Given the description of an element on the screen output the (x, y) to click on. 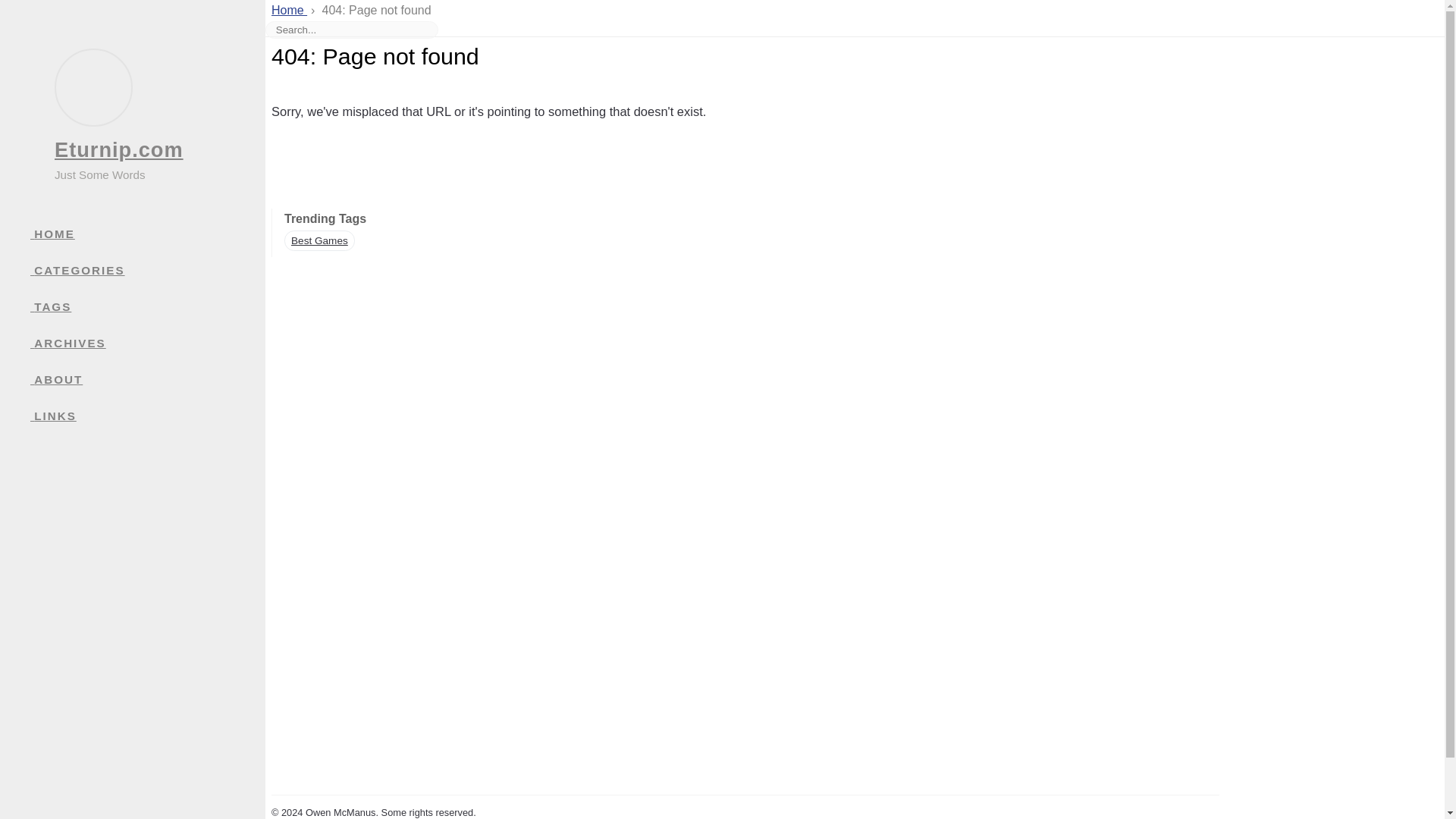
ABOUT (147, 379)
Best Games (319, 240)
Home (288, 10)
Owen McManus (340, 812)
TAGS (147, 307)
ARCHIVES (147, 343)
CATEGORIES (147, 270)
LINKS (146, 416)
HOME (147, 234)
Eturnip.com (119, 149)
